Given the description of an element on the screen output the (x, y) to click on. 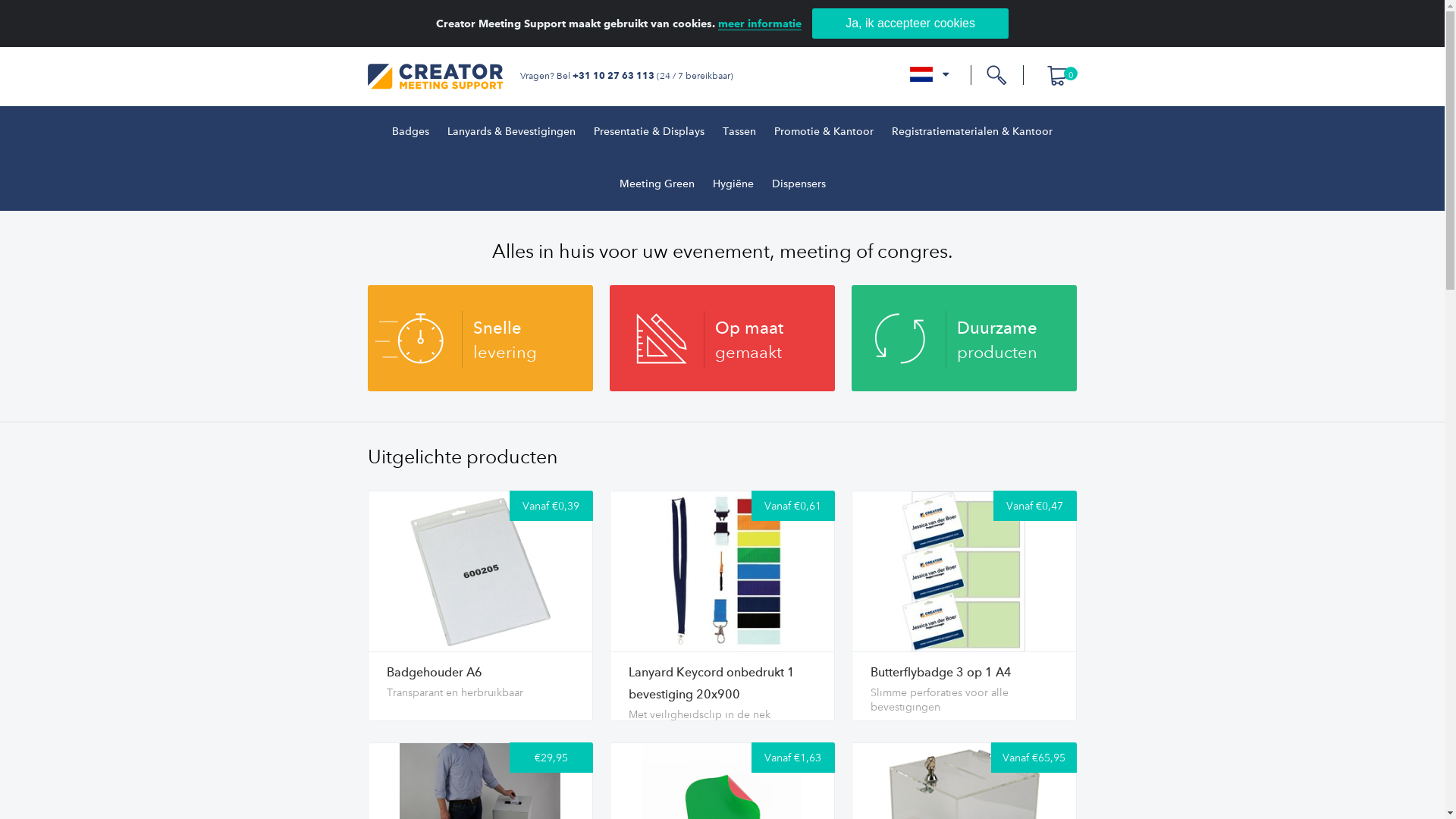
Badgehouder A6
Transparant en herbruikbaar Element type: text (479, 686)
Registratiematerialen & Kantoor Element type: text (971, 132)
meer informatie Element type: text (759, 24)
Lanyards & Bevestigingen Element type: text (511, 132)
Presentatie & Displays Element type: text (648, 132)
Tassen Element type: text (739, 132)
+31 10 27 63 113 Element type: text (612, 75)
0 Element type: text (1051, 74)
Snelle
levering Element type: text (479, 338)
Op maat
gemaakt Element type: text (721, 338)
Badges Element type: text (410, 132)
Ja, ik accepteer cookies Element type: text (910, 23)
Duurzame
producten Element type: text (963, 338)
Meeting Green Element type: text (655, 184)
Promotie & Kantoor Element type: text (823, 132)
nl Element type: text (929, 76)
Dispensers Element type: text (798, 184)
